Given the description of an element on the screen output the (x, y) to click on. 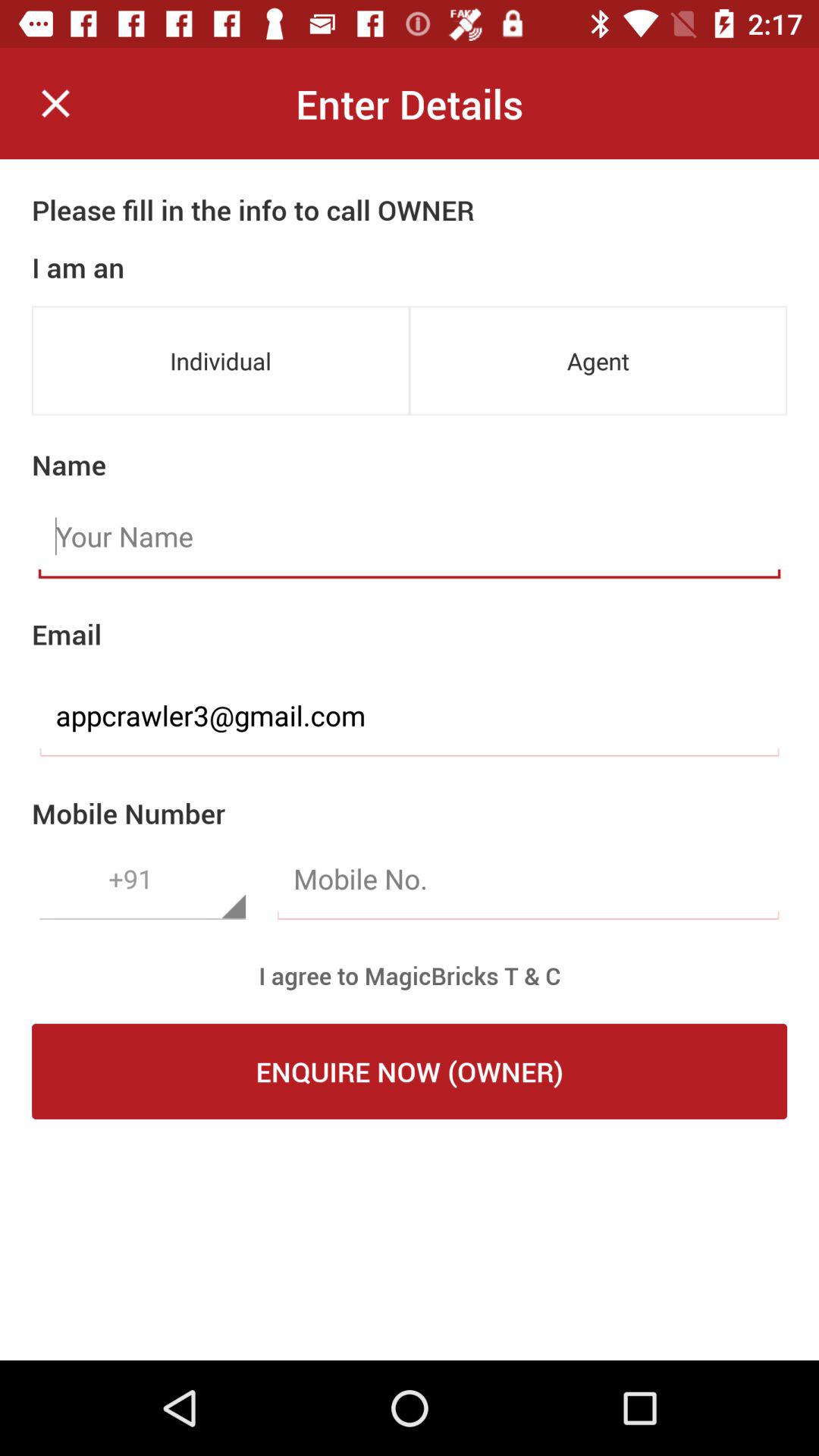
open the enquire now (owner) (409, 1071)
